Given the description of an element on the screen output the (x, y) to click on. 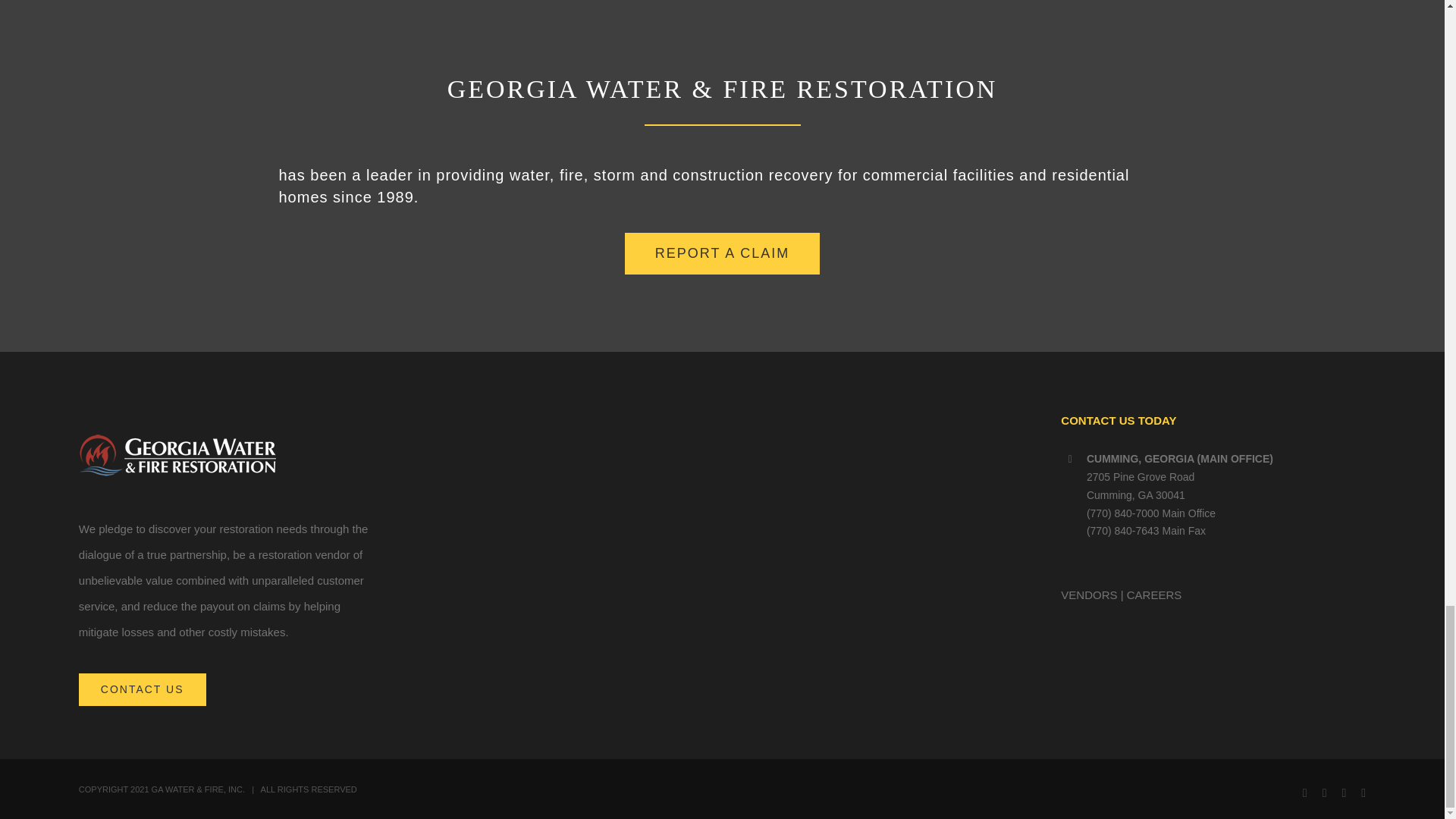
CONTACT US (142, 689)
REPORT A CLAIM (721, 253)
get a free quote (721, 253)
VENDORS (1088, 594)
CAREERS (1154, 594)
